Given the description of an element on the screen output the (x, y) to click on. 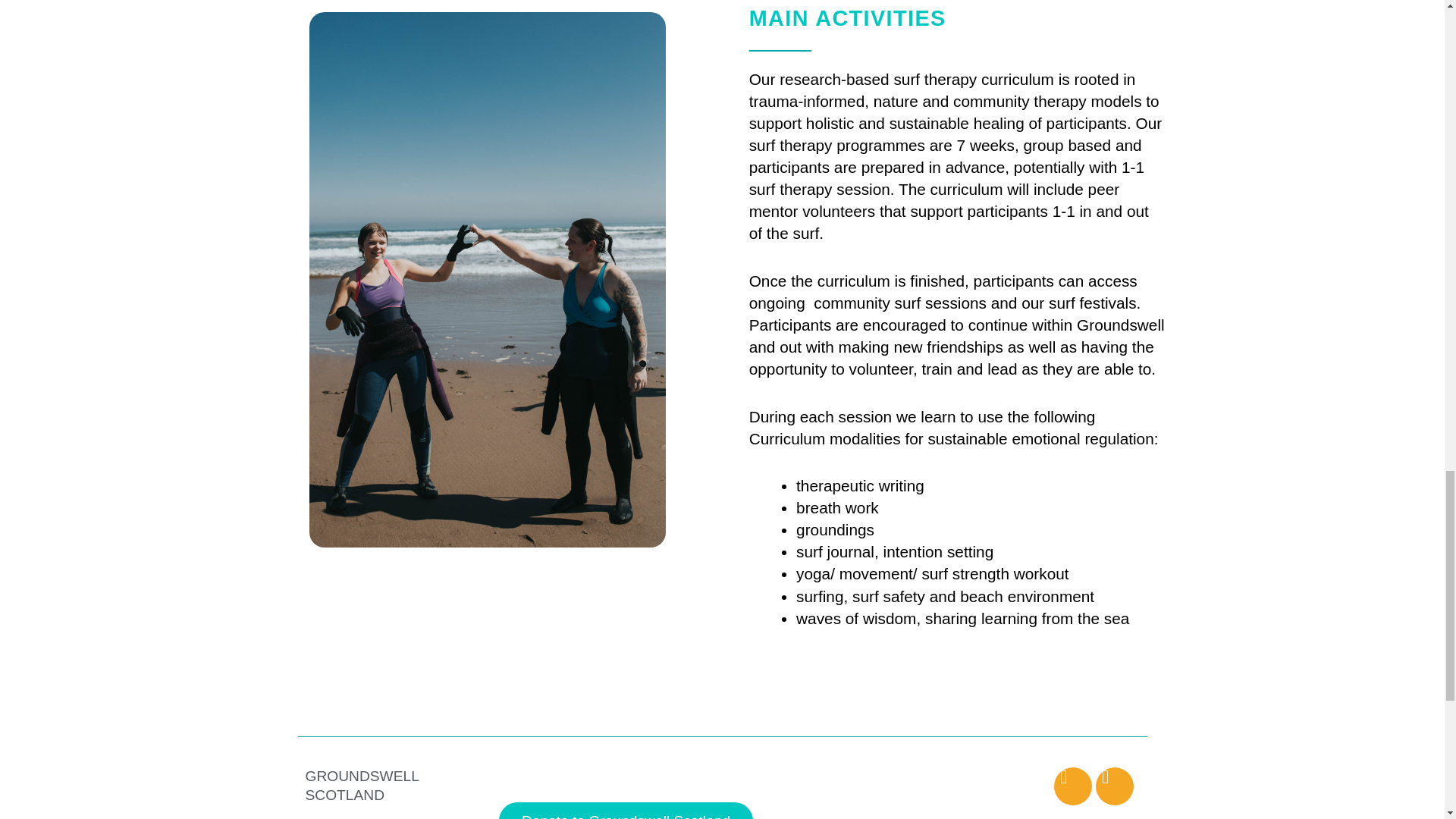
Donate to Groundswell Scotland (625, 810)
Instagram (1115, 786)
GROUNDSWELL SCOTLAND (361, 785)
Facebook (1073, 786)
